Given the description of an element on the screen output the (x, y) to click on. 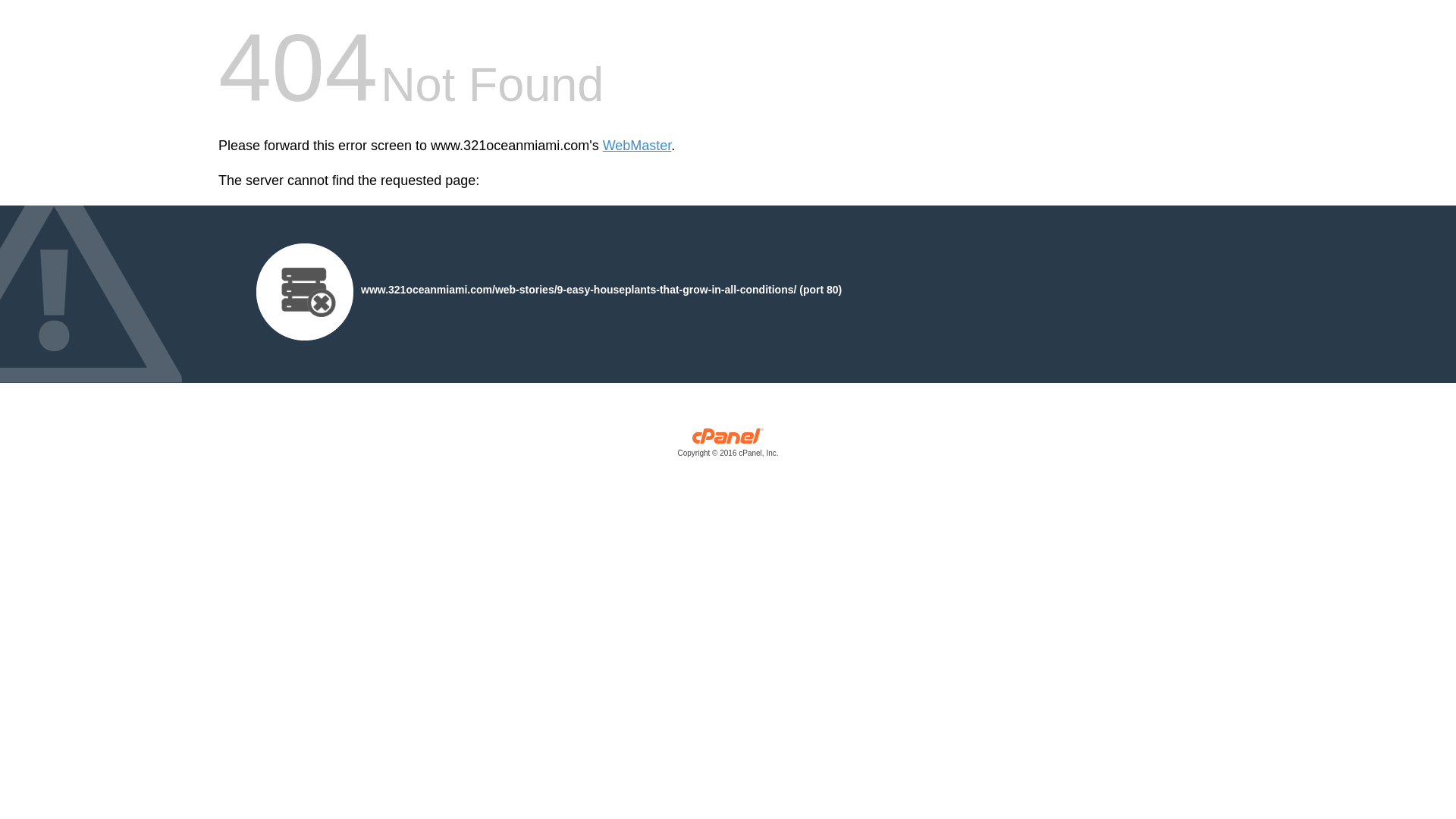
WebMaster (636, 145)
cPanel, Inc. (727, 446)
